Given the description of an element on the screen output the (x, y) to click on. 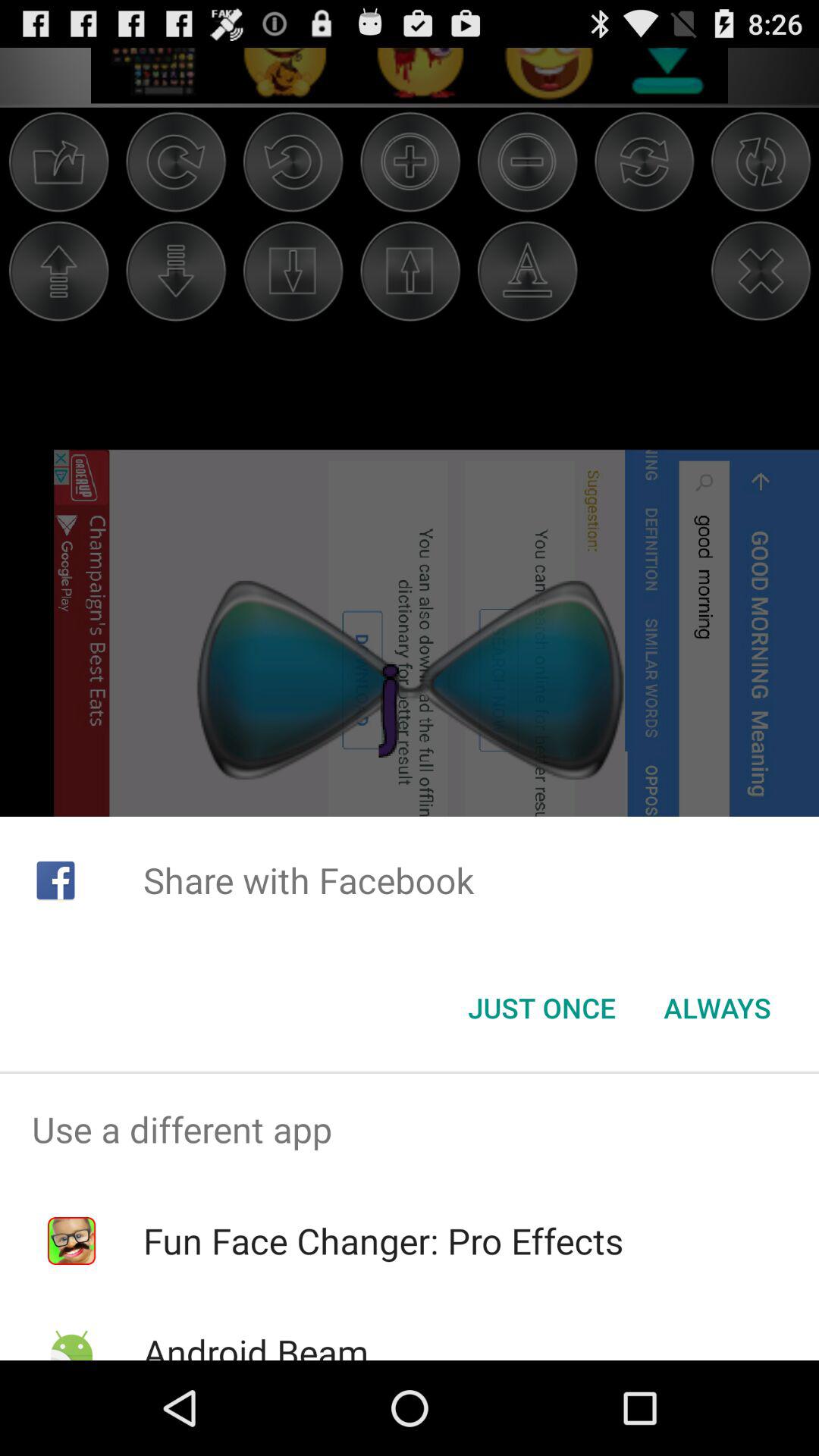
scroll to the always icon (717, 1007)
